Given the description of an element on the screen output the (x, y) to click on. 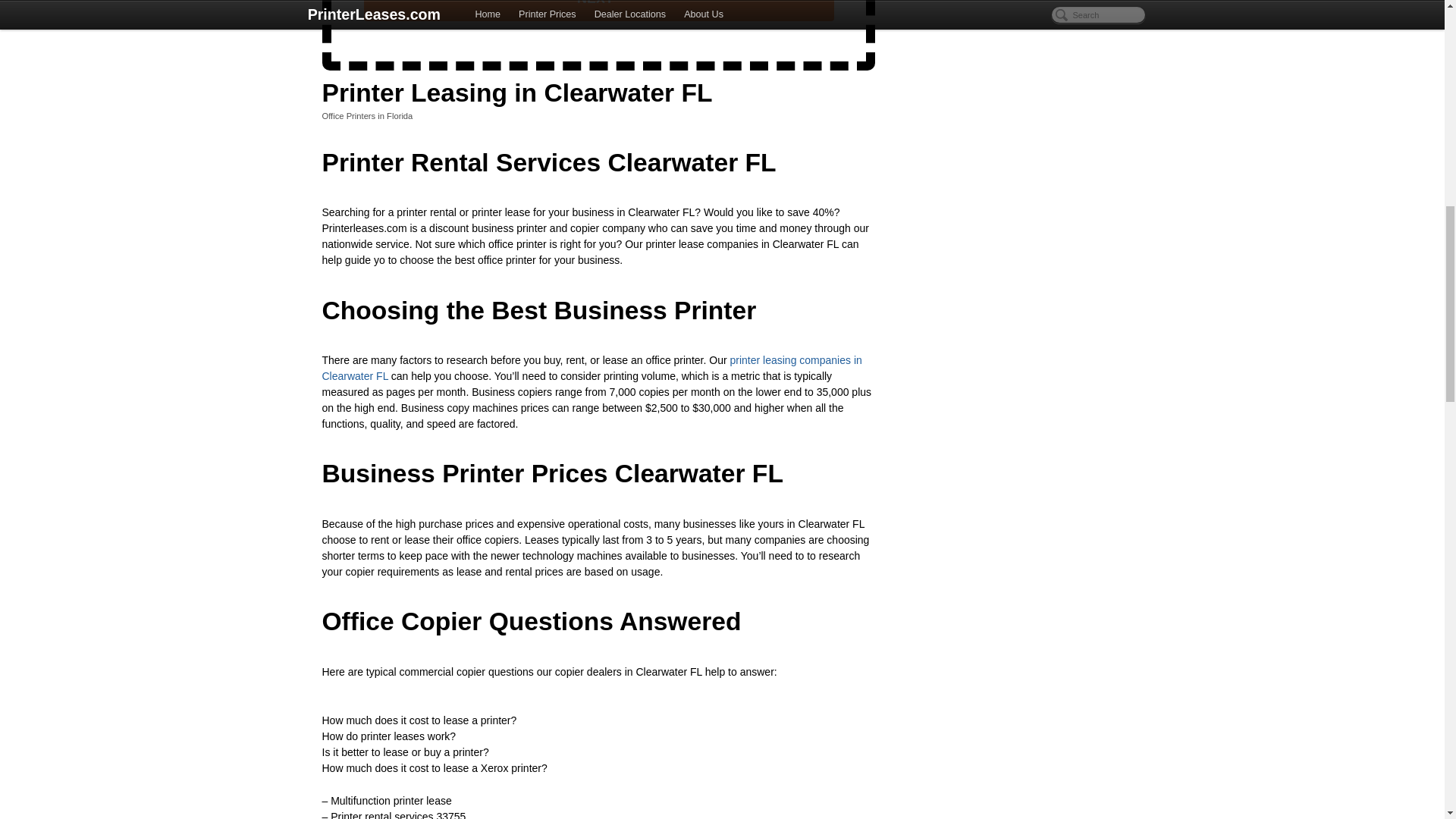
printer leasing companies in Clearwater FL (591, 367)
Office Printers (348, 115)
Florida (399, 115)
BuyerZone RFQ Widget (598, 30)
